Given the description of an element on the screen output the (x, y) to click on. 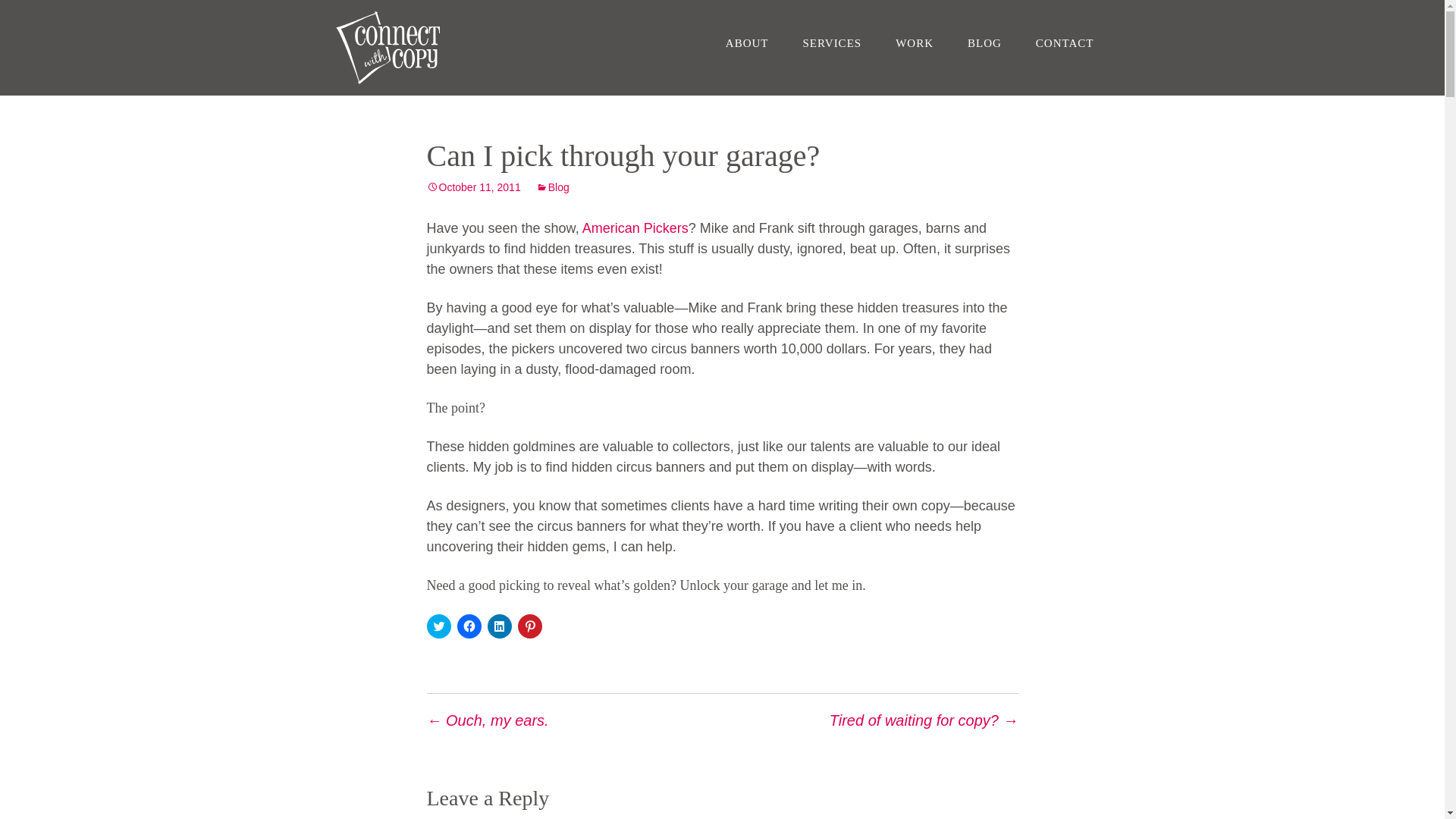
CONTACT (1064, 43)
Click to share on Pinterest (528, 626)
American Pickers (635, 227)
Click to share on LinkedIn (498, 626)
Permalink to Can I pick through your garage? (472, 186)
October 11, 2011 (472, 186)
SERVICES (831, 43)
BLOG (984, 43)
Blog (552, 186)
ABOUT (747, 43)
WORK (914, 43)
Click to share on Facebook (468, 626)
Click to share on Twitter (437, 626)
